Given the description of an element on the screen output the (x, y) to click on. 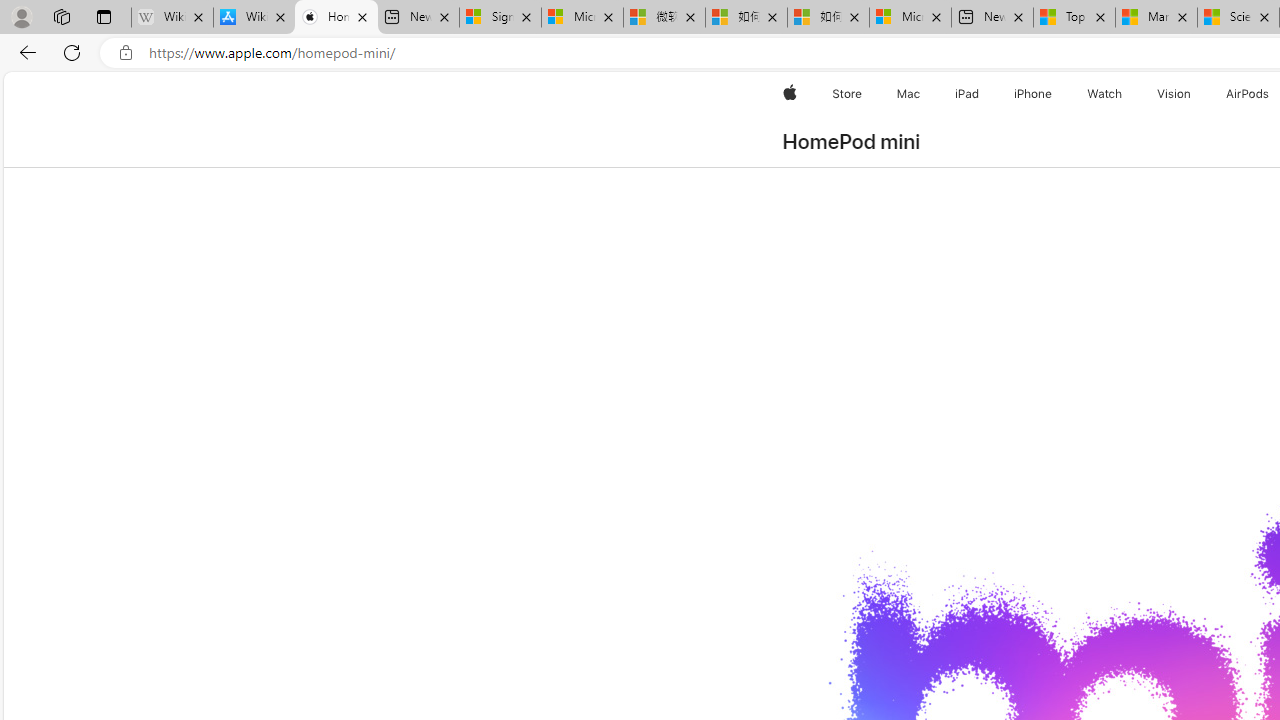
Vision (1174, 93)
iPhone (1033, 93)
AirPods (1247, 93)
Watch menu (1125, 93)
iPhone menu (1055, 93)
Store menu (864, 93)
iPad (965, 93)
Mac (908, 93)
Vision menu (1195, 93)
Sign in to your Microsoft account (500, 17)
Microsoft Services Agreement (582, 17)
